Given the description of an element on the screen output the (x, y) to click on. 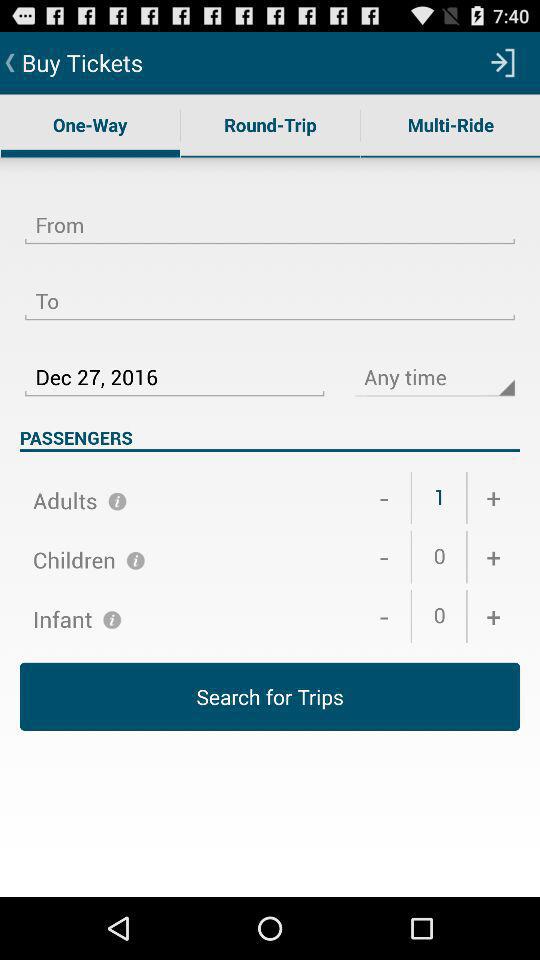
open + item (493, 557)
